Given the description of an element on the screen output the (x, y) to click on. 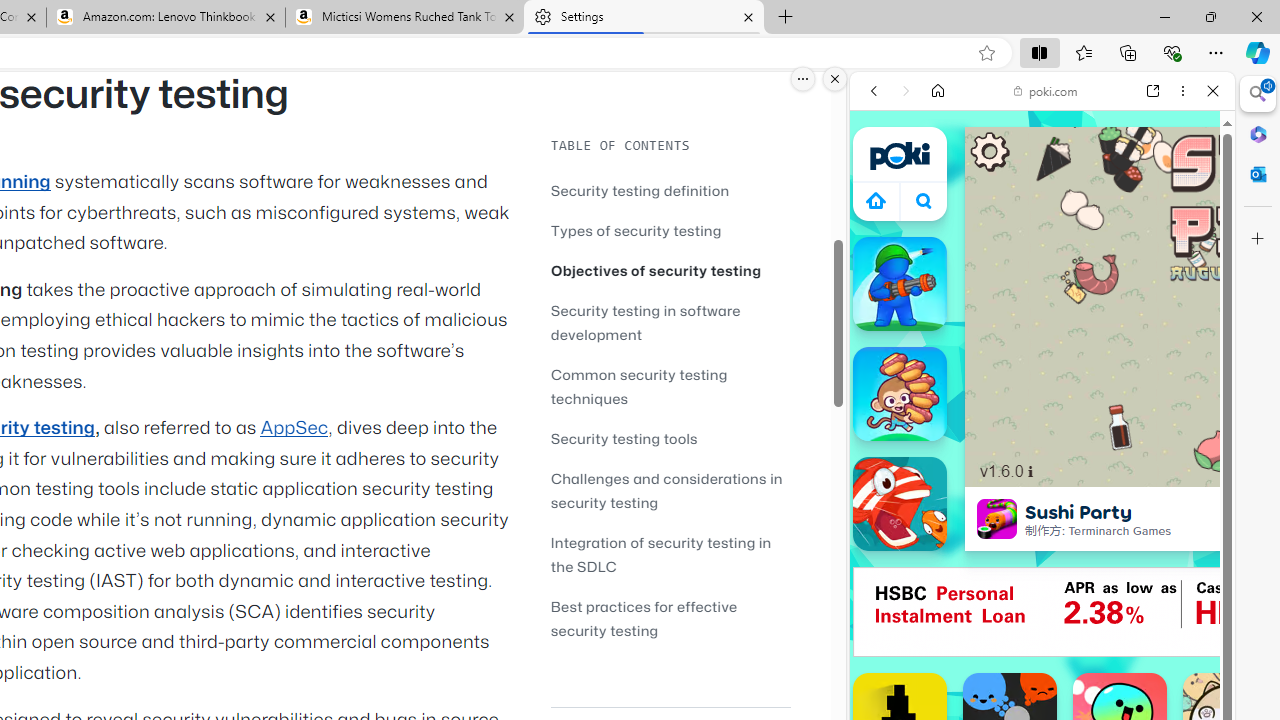
Fish Eat Fish (899, 503)
Shooting Games (1042, 519)
Types of security testing (635, 230)
Security testing definition (670, 190)
Security testing in software development (670, 322)
Monkey Mart (899, 393)
Integration of security testing in the SDLC (660, 554)
AutomationID: stb (989, 151)
